Given the description of an element on the screen output the (x, y) to click on. 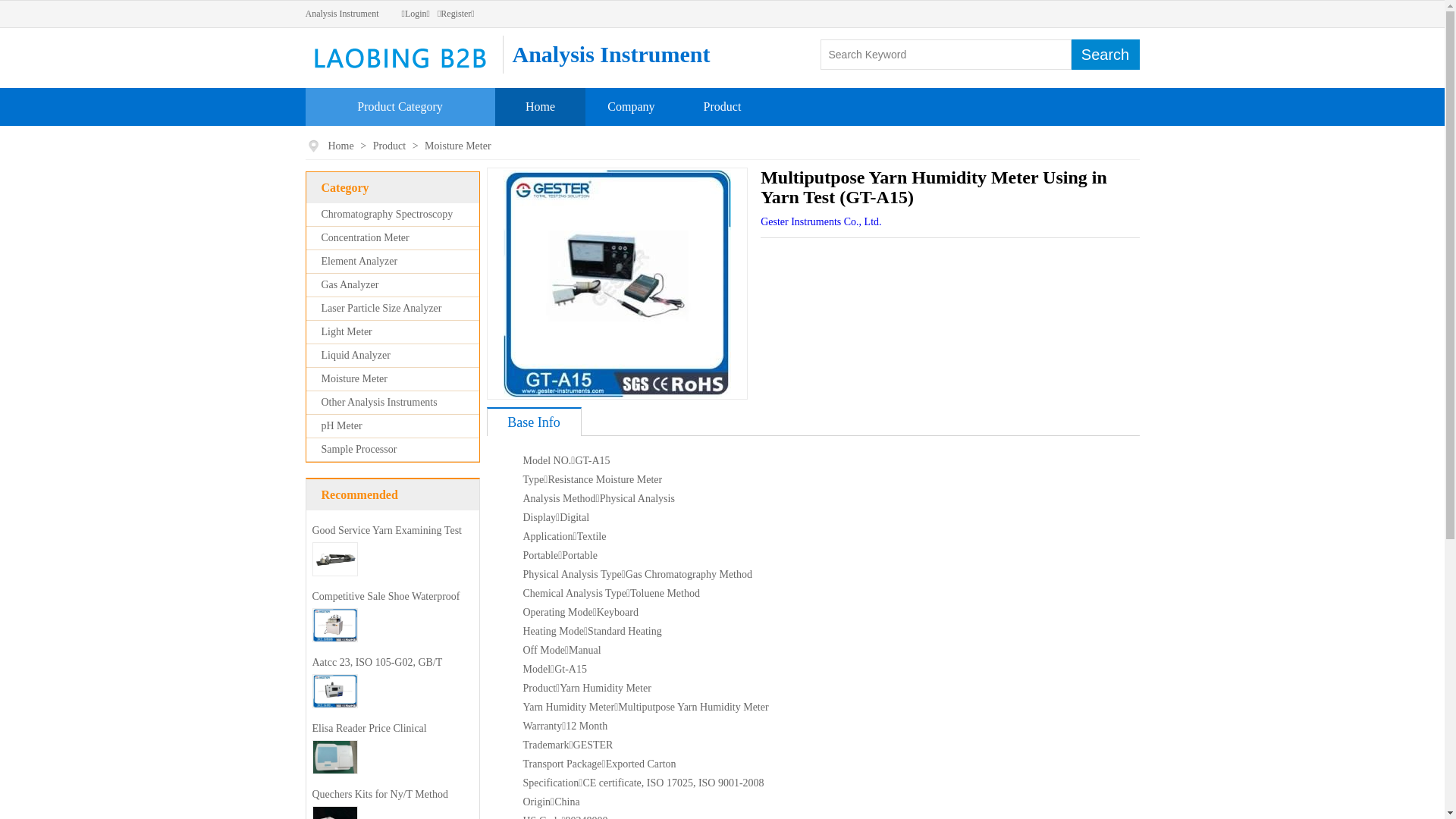
Gester Instruments Co., Ltd. Element type: text (820, 221)
Home Element type: text (540, 106)
Liquid Analyzer Element type: text (355, 354)
Other Analysis Instruments Element type: text (379, 401)
Product Element type: text (722, 106)
Element Analyzer Element type: text (359, 260)
Laser Particle Size Analyzer Element type: text (381, 307)
pH Meter Element type: text (341, 425)
Analysis Instrument Element type: text (341, 13)
Home Element type: text (340, 145)
Concentration Meter Element type: text (365, 237)
Product Element type: text (390, 145)
Company Element type: text (630, 106)
Moisture Meter Element type: text (354, 378)
Good Service Yarn Examining Test Instrument (GT-A09B) Element type: text (386, 541)
Gas Analyzer Element type: text (350, 284)
Product Category Element type: text (399, 106)
Moisture Meter Element type: text (457, 145)
Chromatography Spectroscopy Instrument Element type: text (379, 225)
Quechers Kits for Ny/T Method Element type: text (380, 794)
Competitive Sale Shoe Waterproof Tester for Leather Testing Element type: text (386, 607)
Light Meter Element type: text (346, 331)
Search Element type: text (1104, 54)
Sample Processor Element type: text (359, 449)
